Given the description of an element on the screen output the (x, y) to click on. 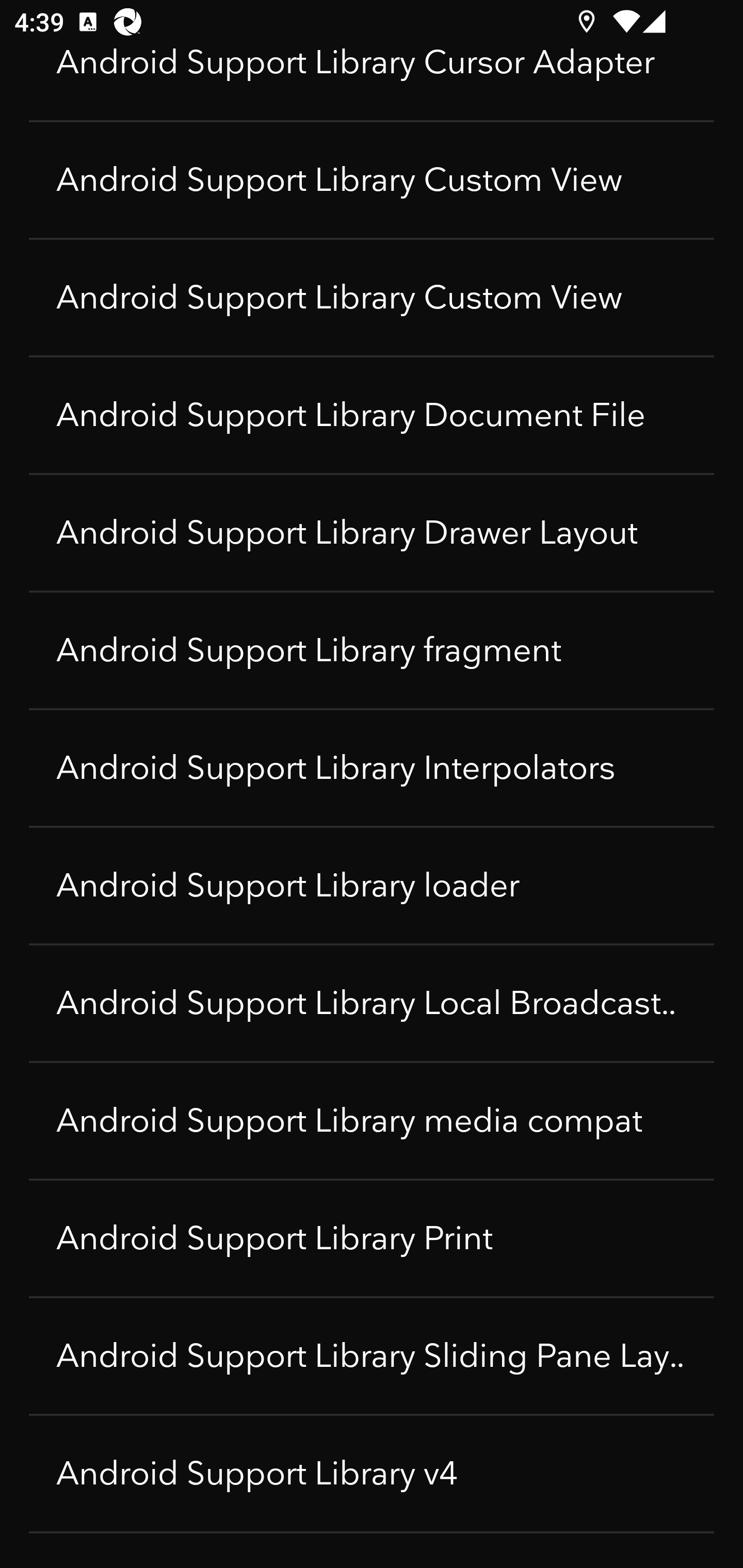
Android Support Library Cursor Adapter (371, 81)
Android Support Library Custom View (371, 180)
Android Support Library Custom View (371, 297)
Android Support Library Document File (371, 415)
Android Support Library Drawer Layout (371, 533)
Android Support Library fragment (371, 650)
Android Support Library Interpolators (371, 768)
Android Support Library loader (371, 885)
Android Support Library Local Broadcast Manager (371, 1003)
Android Support Library media compat (371, 1121)
Android Support Library Print (371, 1238)
Android Support Library Sliding Pane Layout (371, 1356)
Android Support Library v4 (371, 1473)
